Given the description of an element on the screen output the (x, y) to click on. 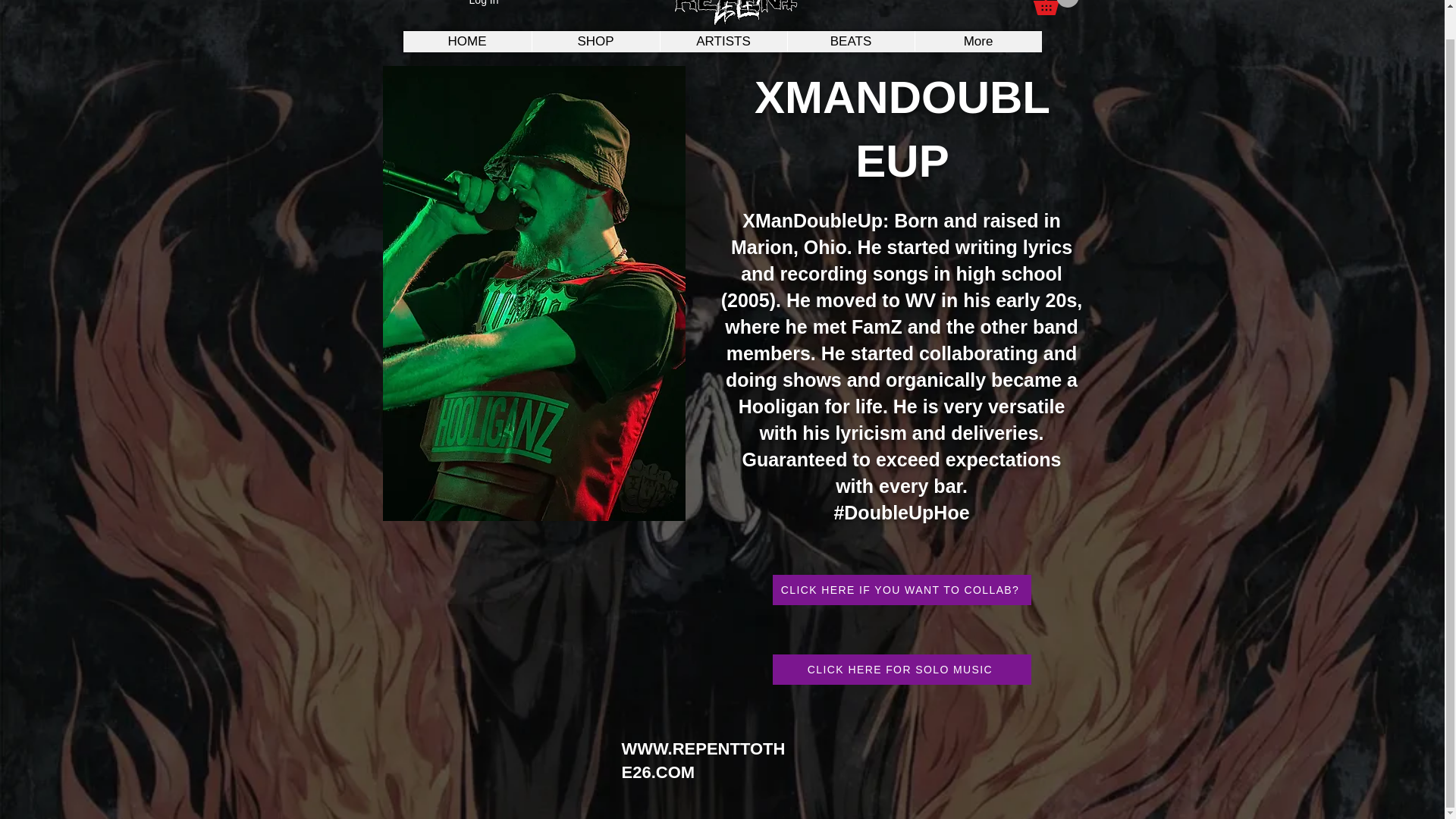
HOME (467, 41)
SHOP (595, 41)
BEATS (850, 41)
Log In (483, 6)
ARTISTS (723, 41)
WWW.REPENTTOTHE26.COM (703, 760)
CLICK HERE FOR SOLO MUSIC (900, 669)
CLICK HERE IF YOU WANT TO COLLAB? (900, 589)
